Given the description of an element on the screen output the (x, y) to click on. 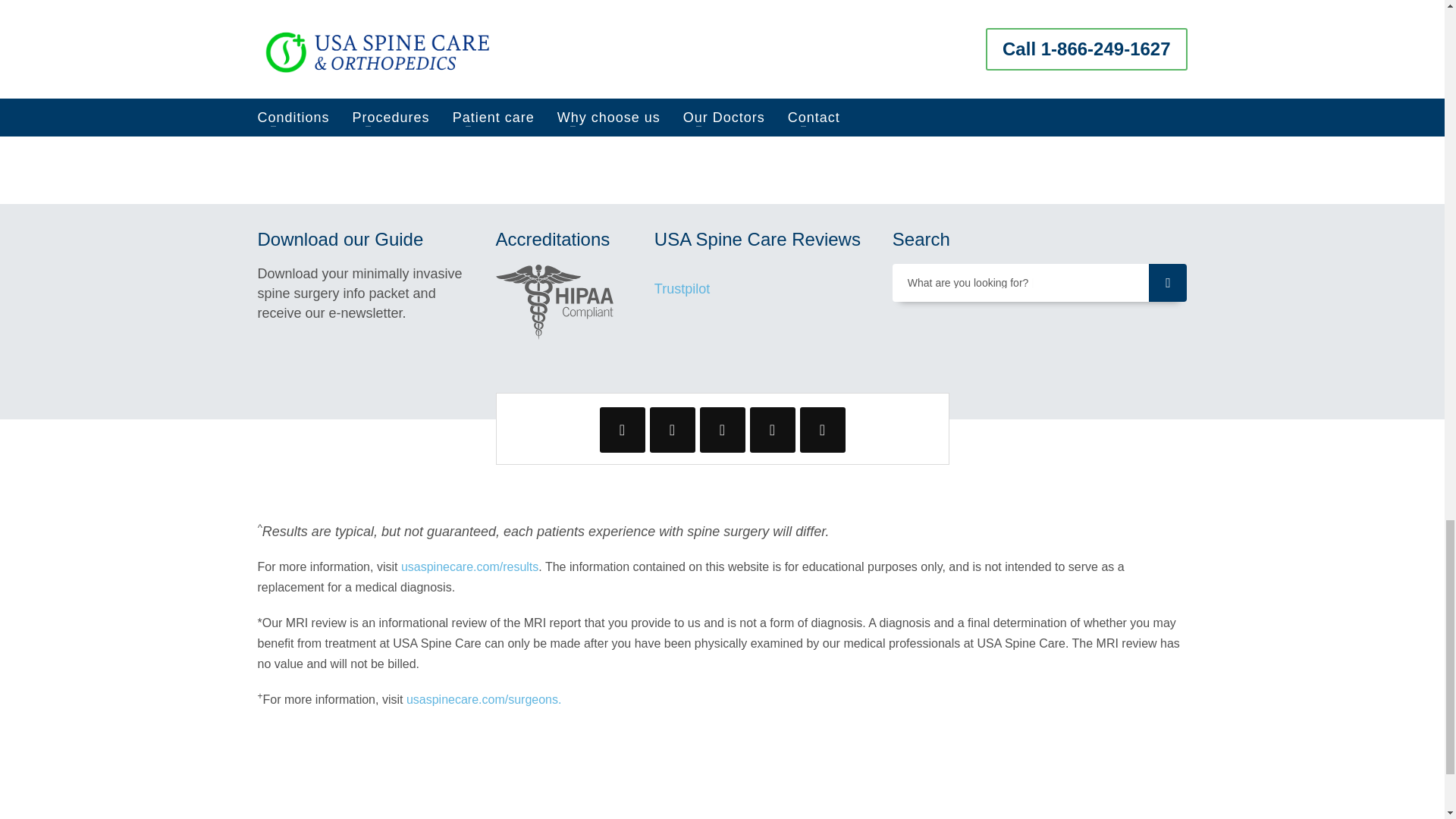
HIPAA Compliant (555, 301)
